Given the description of an element on the screen output the (x, y) to click on. 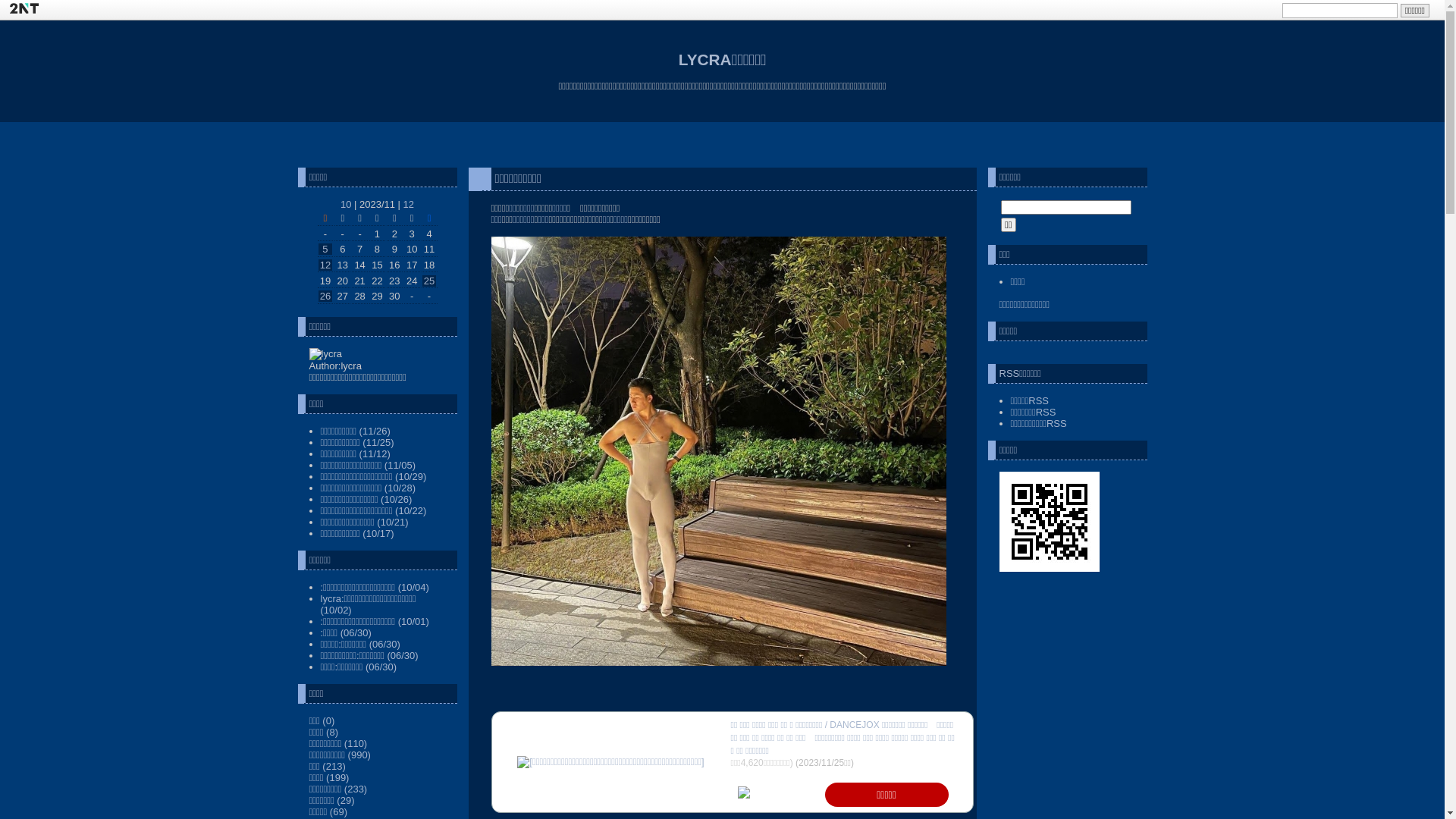
5 Element type: text (325, 248)
12 Element type: text (408, 204)
12 Element type: text (325, 264)
26 Element type: text (325, 295)
10 Element type: text (345, 204)
25 Element type: text (429, 280)
